Given the description of an element on the screen output the (x, y) to click on. 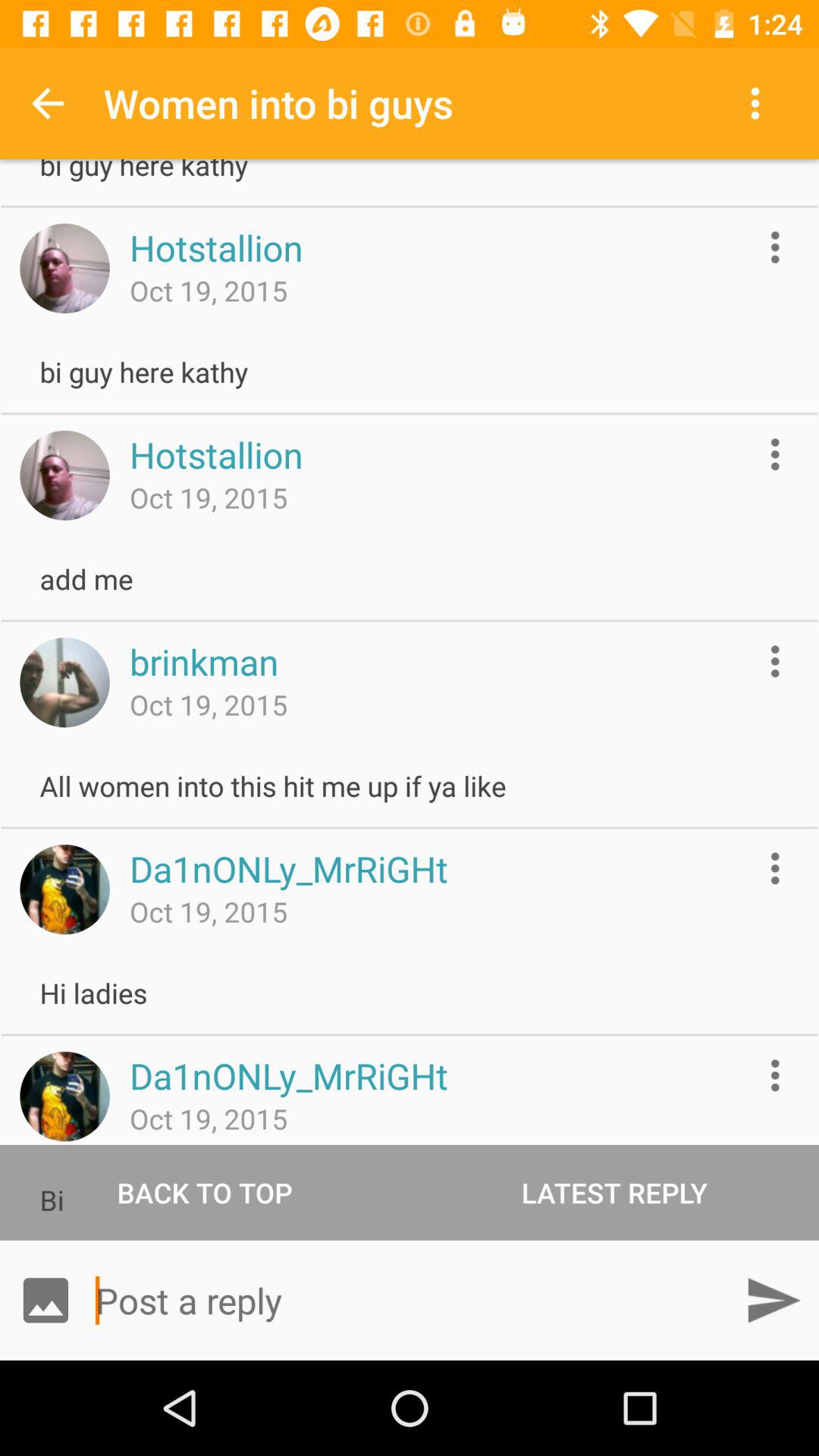
launch the app to the right of the women into bi item (759, 103)
